Given the description of an element on the screen output the (x, y) to click on. 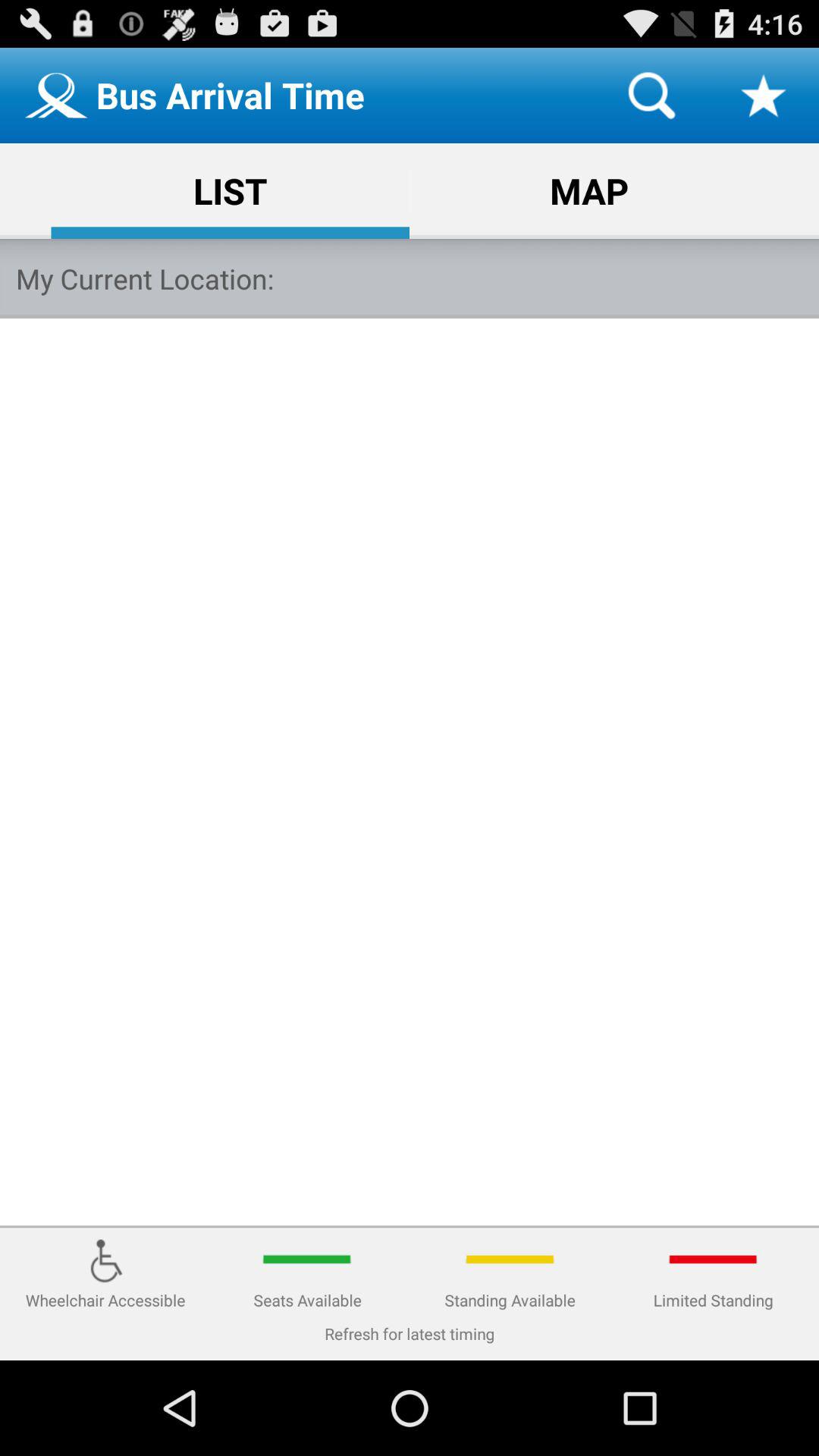
open item to the right of bus arrival time item (651, 95)
